Given the description of an element on the screen output the (x, y) to click on. 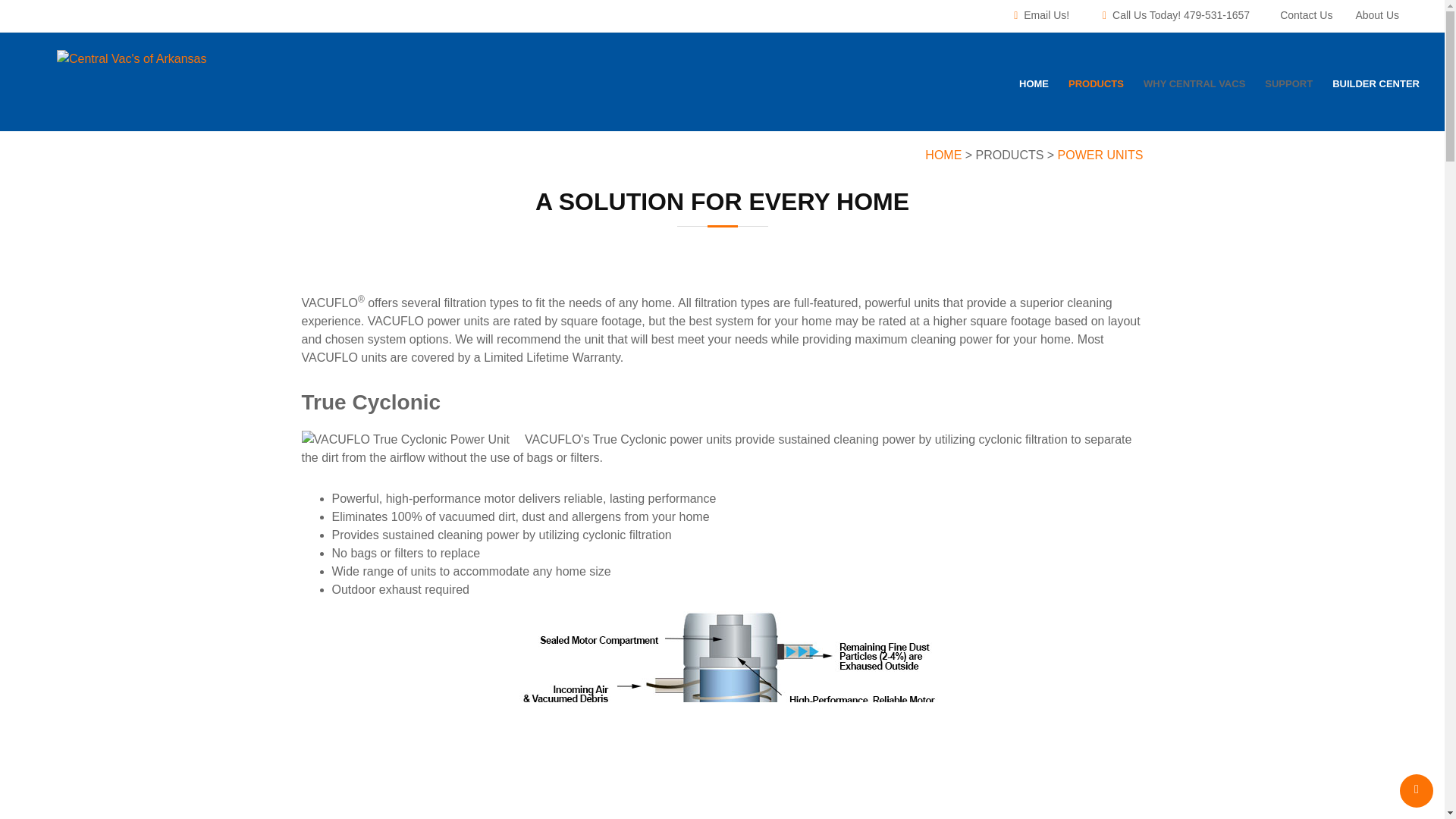
Email Us! (1045, 15)
POWER UNITS (1100, 154)
Contact Us (1305, 15)
SUPPORT (1289, 87)
PRODUCTS (1095, 87)
BUILDER CENTER (1375, 87)
Central Vac's of Arkansas (131, 58)
WHY CENTRAL VACS (1193, 87)
HOME (1033, 87)
HOME (942, 154)
About Us (1377, 15)
